Given the description of an element on the screen output the (x, y) to click on. 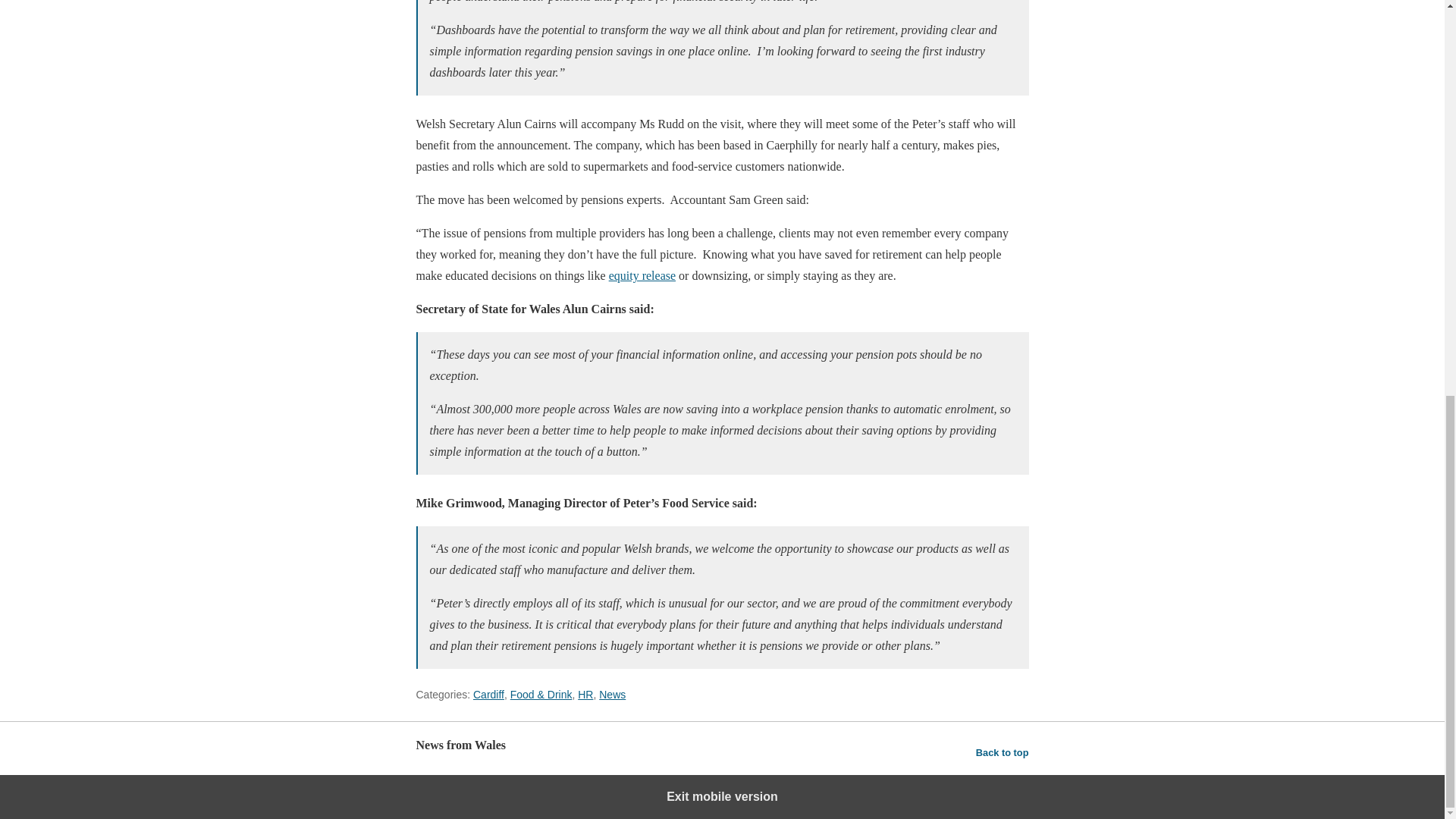
equity release (641, 275)
Cardiff (488, 694)
Back to top (1002, 752)
HR (585, 694)
News (612, 694)
